Given the description of an element on the screen output the (x, y) to click on. 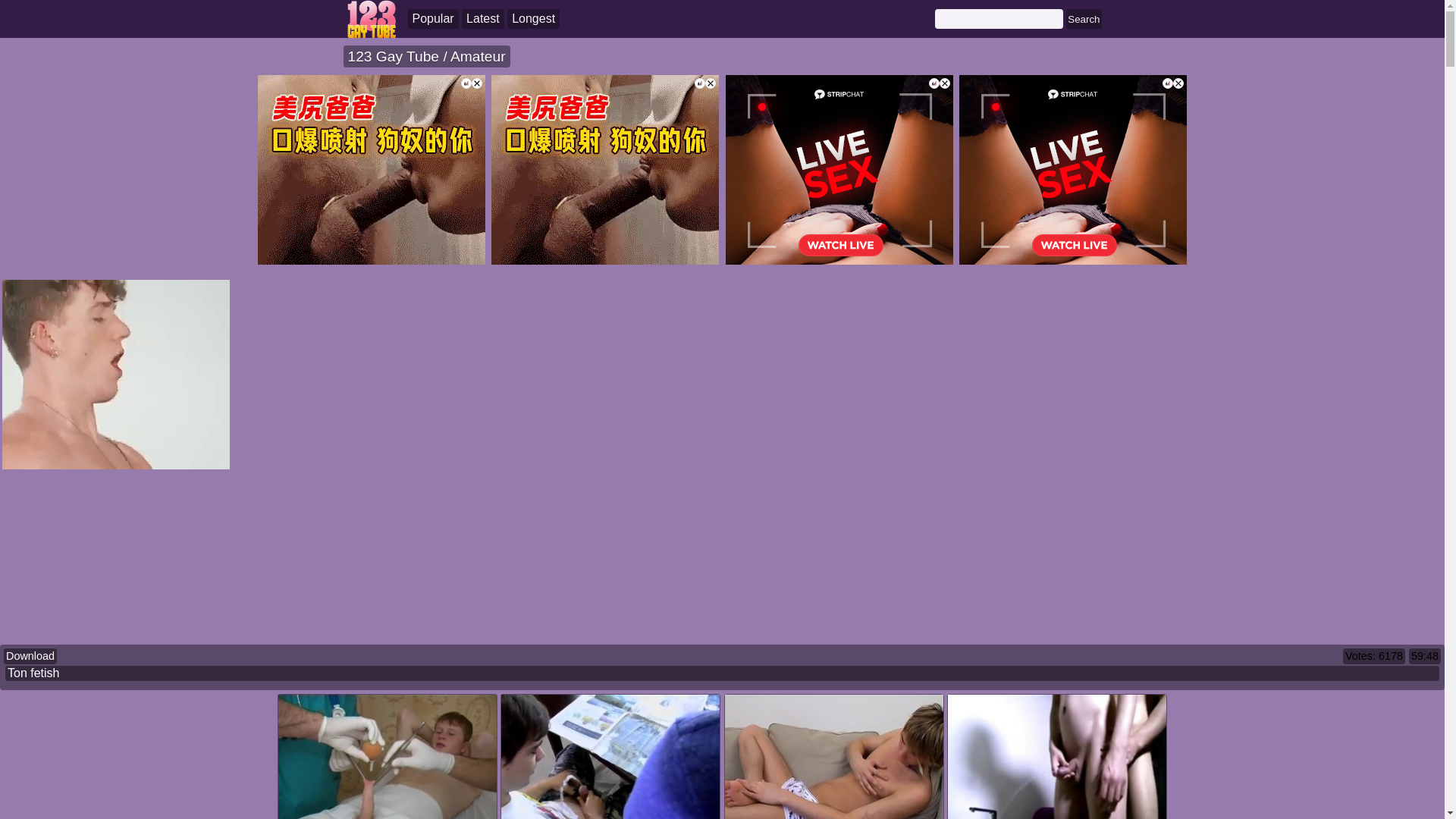
Amateur Element type: text (477, 56)
Longest Element type: text (533, 18)
123 Gay Tube Element type: text (394, 56)
Popular Latest Longest Element type: text (483, 18)
Popular Element type: text (432, 18)
Latest Element type: text (482, 18)
Search Element type: text (1083, 18)
Download Element type: text (30, 655)
